Given the description of an element on the screen output the (x, y) to click on. 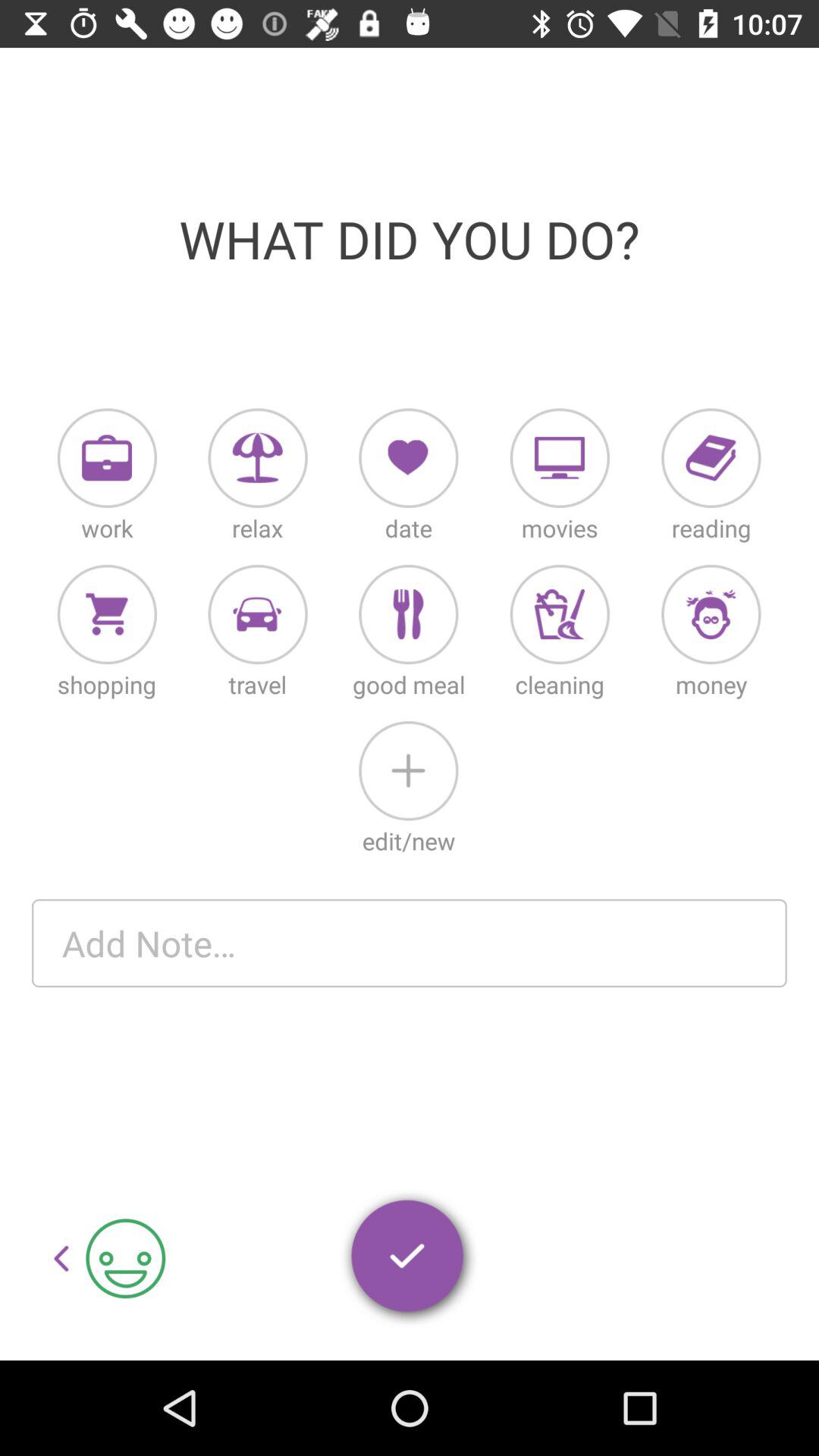
button to inform activity (257, 457)
